Given the description of an element on the screen output the (x, y) to click on. 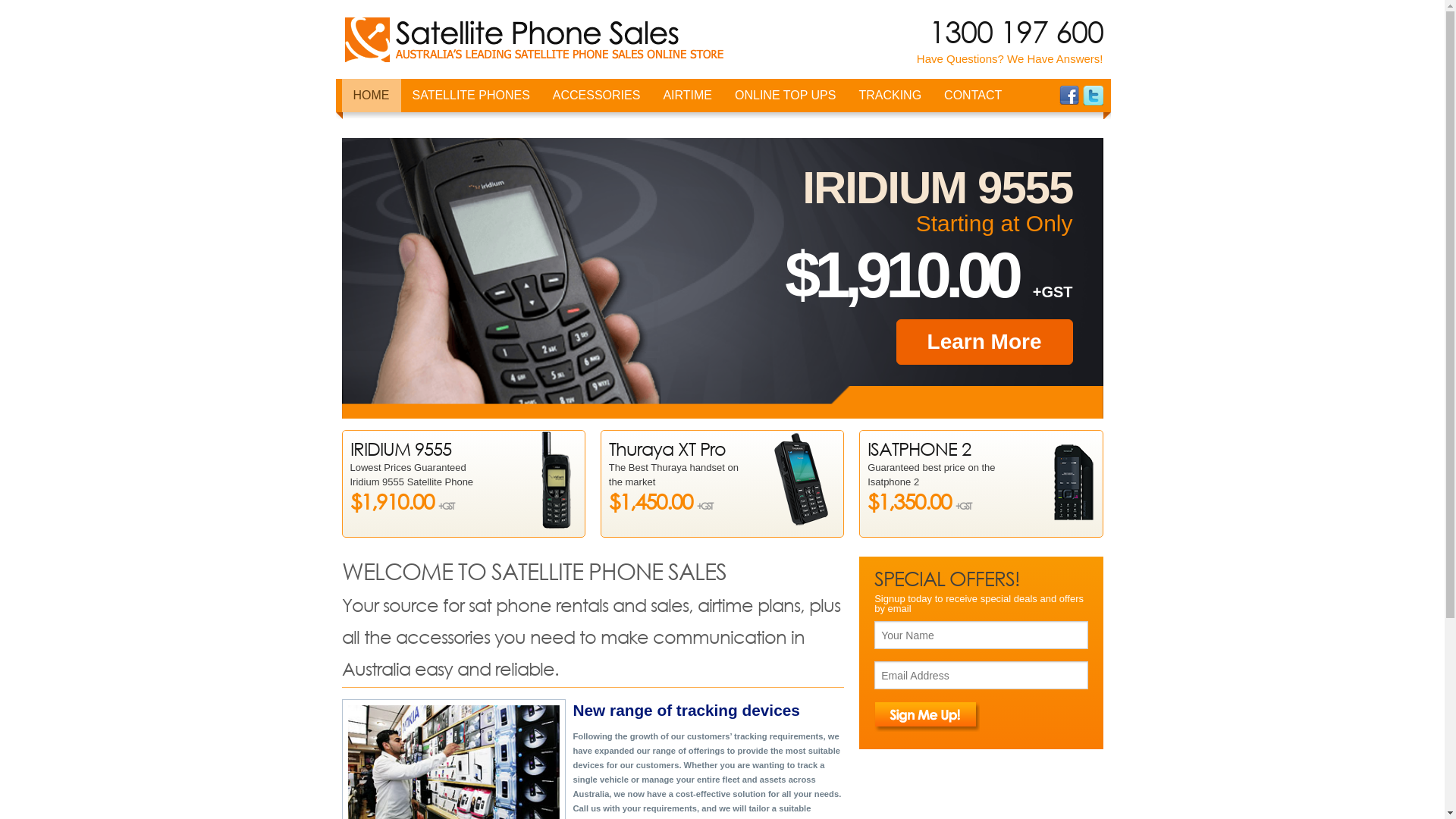
SMS Element type: text (727, 195)
Blog Element type: text (1036, 127)
Iridium Airtime Element type: text (727, 126)
Iridium Accessories Element type: text (617, 126)
SATELLITE PHONES Element type: text (470, 95)
CONTACT Element type: text (972, 95)
Isathub Wifi Hotspot Element type: text (476, 126)
FAQ Element type: text (1008, 126)
Thuraya XT Lite handset Element type: text (476, 370)
ACCESSORIES Element type: text (596, 95)
Iridium Go Element type: text (476, 335)
Dual Tracker Element type: text (922, 126)
Bgan Accessories Element type: text (617, 265)
Iridium 9555 Element type: text (476, 161)
Inmarsat IsatPhone 2 Element type: text (476, 230)
Online Isatphone Top Ups Element type: text (799, 126)
Isatphone Pro Accessories Element type: text (617, 161)
HOME Element type: text (370, 95)
Handset Docks Element type: text (476, 265)
Thuraya XT Pro Element type: text (476, 300)
Beam Accessories Element type: text (617, 230)
SATELLITE PHONE SALES Element type: hover (535, 39)
Inmarsat Airtime Element type: text (727, 161)
About Us Element type: text (1008, 161)
3G Tracker Element type: text (922, 161)
Thuraya Satsleeve Hotspot Element type: text (476, 405)
ONLINE TOP UPS Element type: text (785, 95)
TRACKING Element type: text (889, 95)
Iridium 9575 Element type: text (476, 195)
Thuraya Airtime Element type: text (727, 230)
Handset Docks Element type: text (617, 195)
AIRTIME Element type: text (687, 95)
Learn More Element type: text (984, 341)
